Given the description of an element on the screen output the (x, y) to click on. 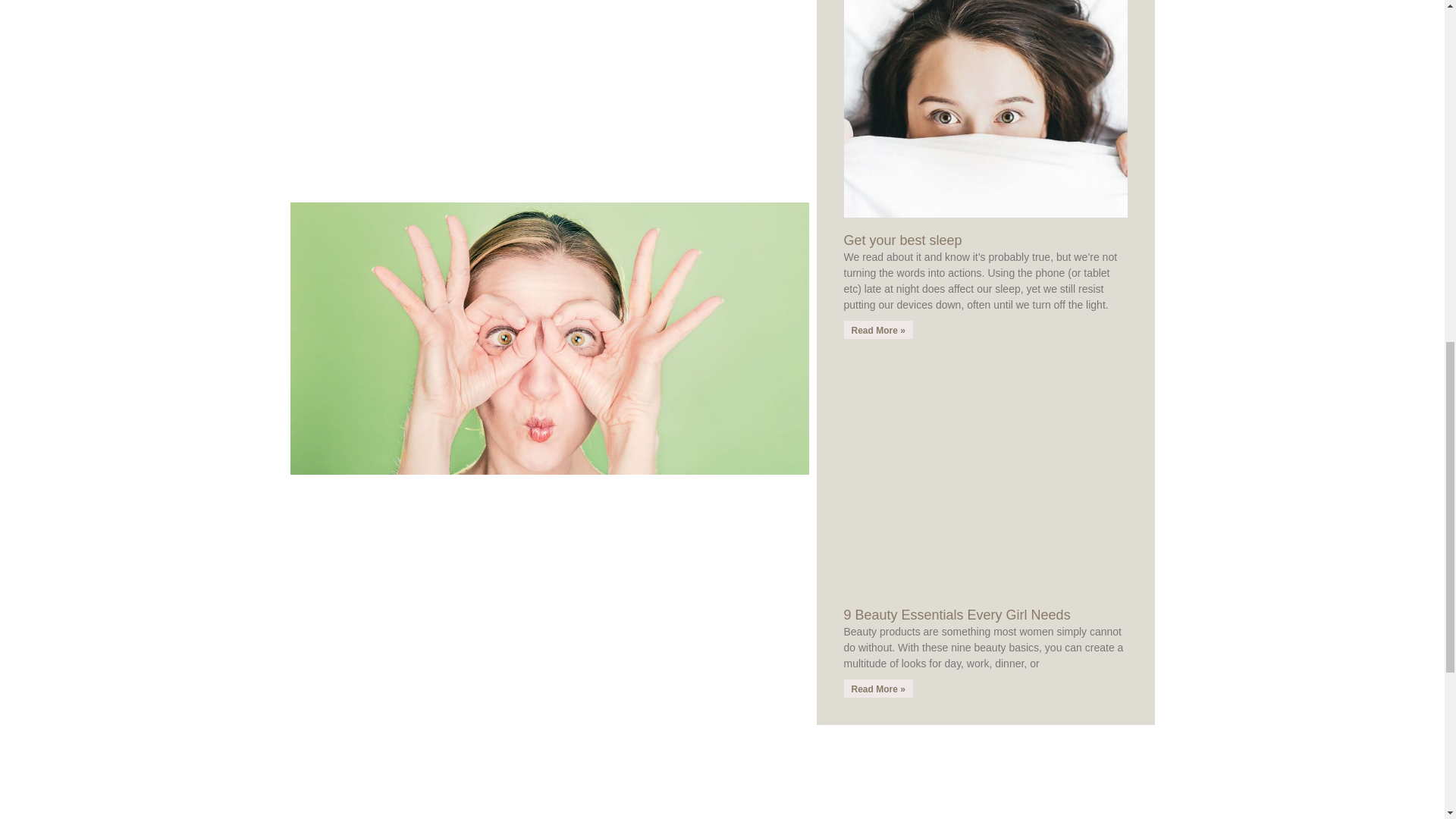
Get your best sleep (901, 240)
9 Beauty Essentials Every Girl Needs (956, 614)
